Given the description of an element on the screen output the (x, y) to click on. 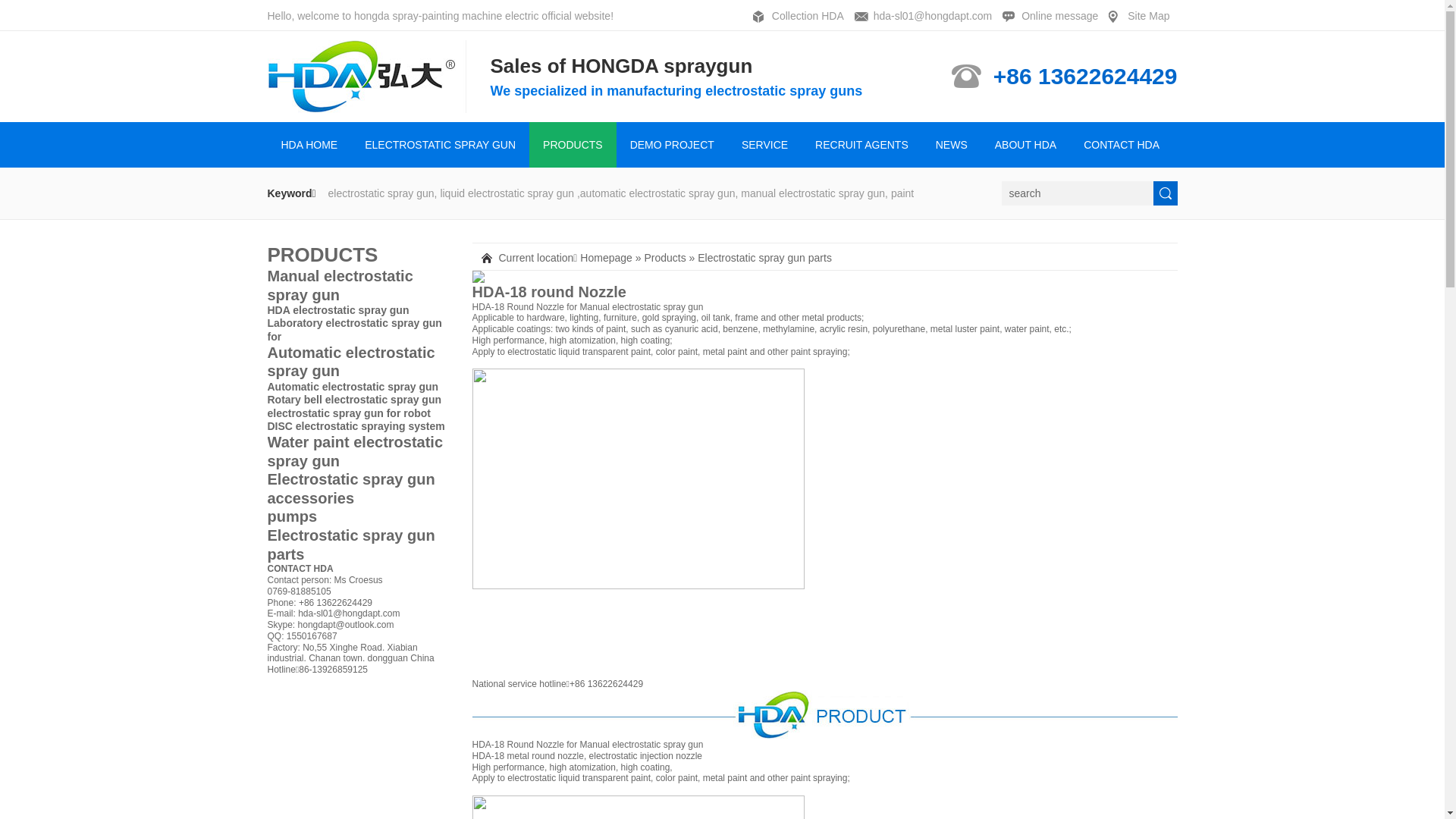
Electrostatic spray gun accessories Element type: text (358, 488)
HDA HOME Element type: text (308, 144)
electrostatic spray gun Element type: text (656, 306)
Homepage Element type: text (606, 257)
Collection HDA Element type: text (802, 16)
HONGDA SPRAYING ELECTROMECHANICAL CO.,LTD Element type: hover (366, 105)
CONTACT HDA Element type: text (1121, 144)
RECRUIT AGENTS Element type: text (861, 144)
Online message Element type: text (1053, 16)
DISC electrostatic spraying system Element type: text (355, 426)
HDA electrostatic spray gun Element type: text (337, 310)
SERVICE Element type: text (764, 144)
HONGDA SPRAYING ELECTROMECHANICAL CO.,LTD Element type: hover (366, 76)
electrostatic spray gun Element type: text (656, 744)
DEMO PROJECT Element type: text (672, 144)
Manual electrostatic spray gun Element type: text (358, 285)
Rotary bell electrostatic spray gun Element type: text (353, 399)
NEWS Element type: text (951, 144)
Automatic electrostatic spray gun Element type: text (358, 361)
PRODUCTS Element type: text (321, 254)
electrostatic spray gun for robot Element type: text (347, 413)
Automatic electrostatic spray gun Element type: text (352, 386)
Electrostatic spray gun parts Element type: text (764, 257)
Laboratory electrostatic spray gun for Element type: text (353, 329)
Electrostatic spray gun parts Element type: text (358, 544)
PRODUCTS Element type: text (572, 144)
ABOUT HDA Element type: text (1025, 144)
hda-sl01@hongdapt.com Element type: text (927, 16)
ELECTROSTATIC SPRAY GUN Element type: text (440, 144)
Products Element type: text (664, 257)
Site Map Element type: text (1142, 16)
Water paint electrostatic spray gun Element type: text (358, 451)
pumps Element type: text (358, 516)
